Given the description of an element on the screen output the (x, y) to click on. 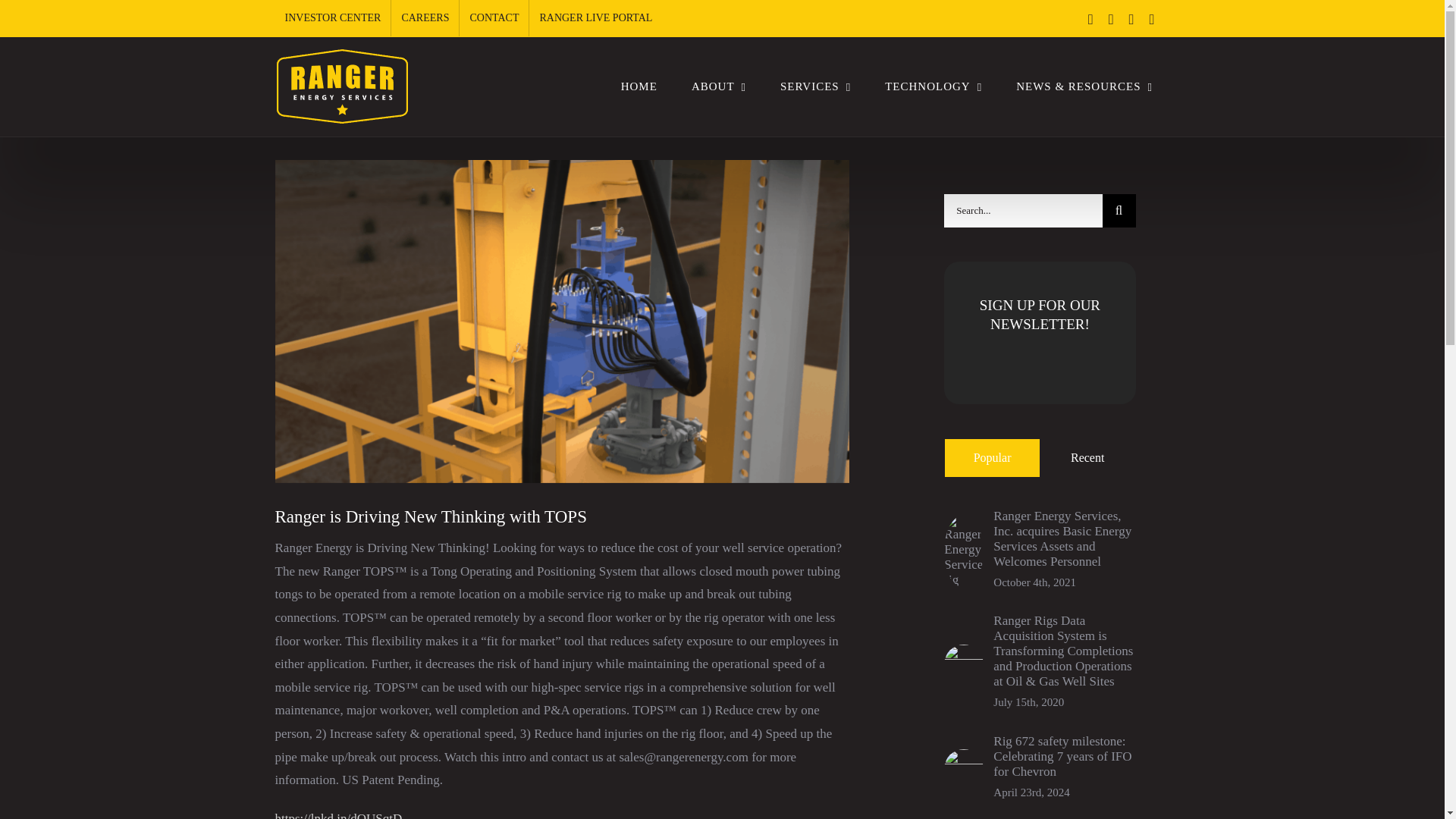
INVESTOR CENTER (332, 18)
CAREERS (424, 18)
ABOUT (718, 86)
CONTACT (494, 18)
TECHNOLOGY (932, 86)
SERVICES (814, 86)
RANGER LIVE PORTAL (595, 18)
